Given the description of an element on the screen output the (x, y) to click on. 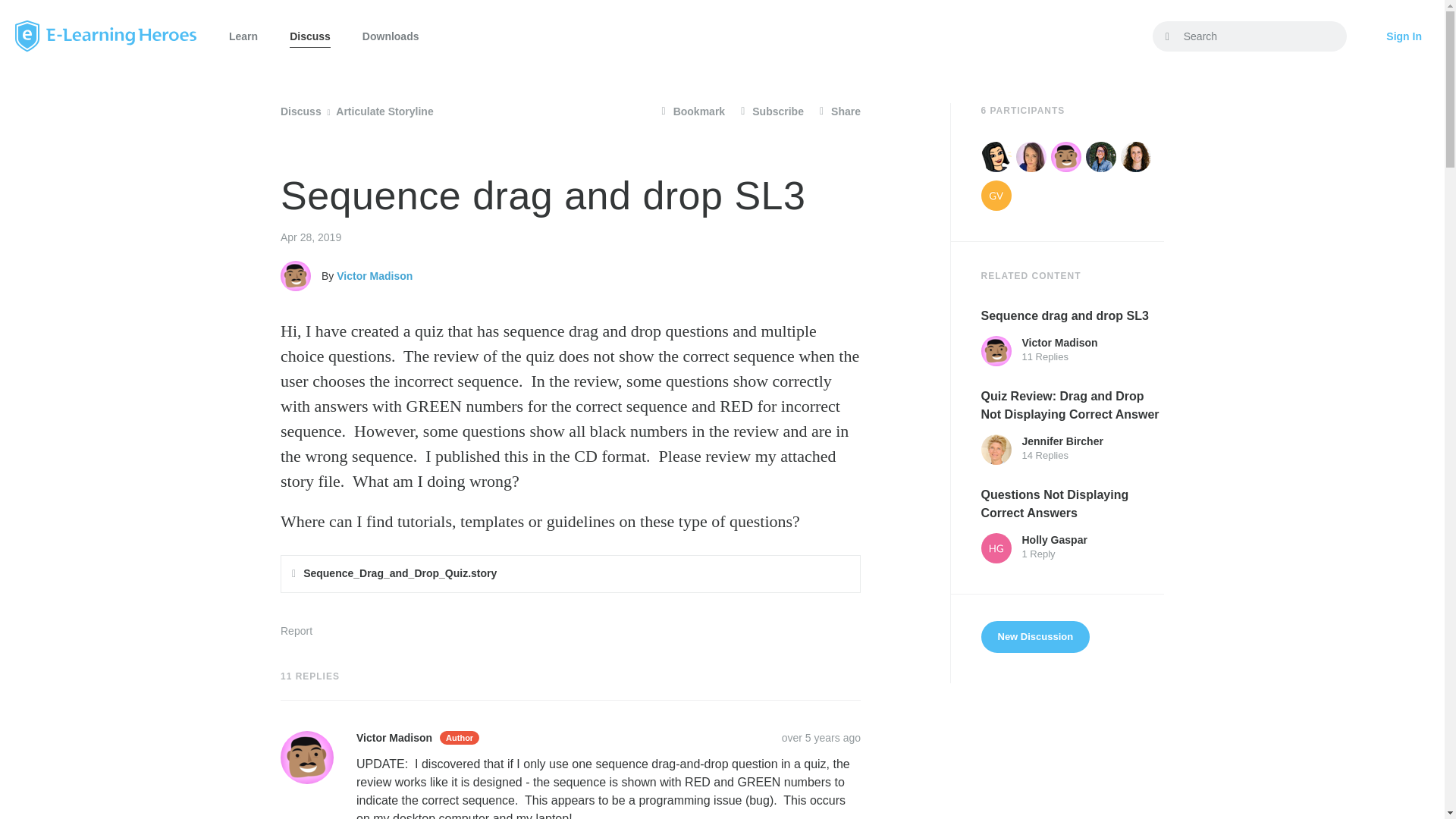
Articulate Storyline (384, 111)
Copy URL to Clipboard (820, 737)
Victor Madison (307, 757)
Sign In (1404, 36)
Discuss (301, 111)
Bookmark (693, 111)
Victor Madison (296, 276)
E-Learning Heroes (105, 36)
